Given the description of an element on the screen output the (x, y) to click on. 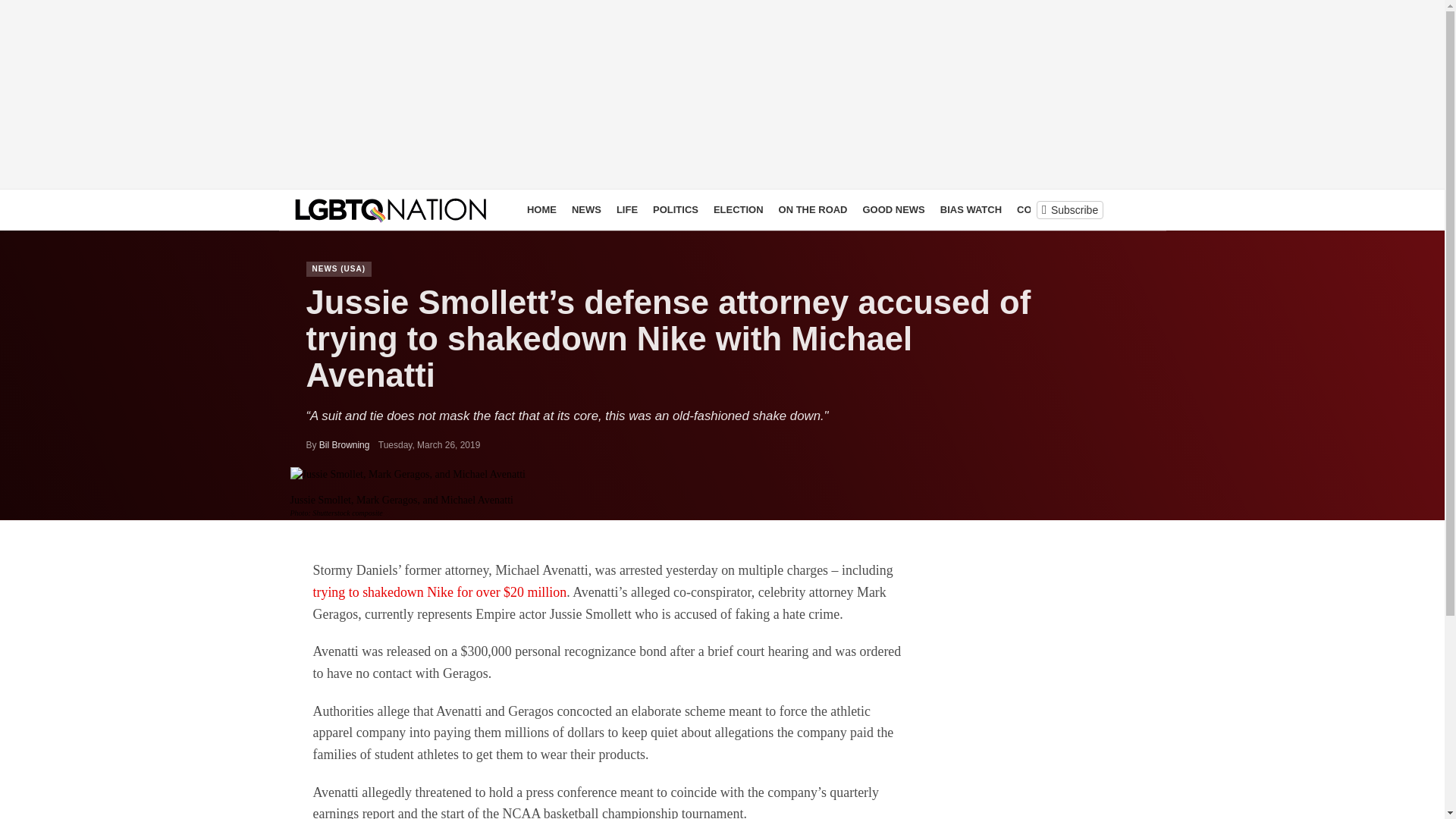
ON THE ROAD (813, 209)
Posts by Bil Browning (343, 444)
ELECTION (738, 209)
GOOD NEWS (894, 209)
Bil Browning (343, 444)
Subscribe (1069, 209)
HOME (541, 209)
LIFE (626, 209)
COMMENTARY (1051, 209)
BIAS WATCH (971, 209)
